Given the description of an element on the screen output the (x, y) to click on. 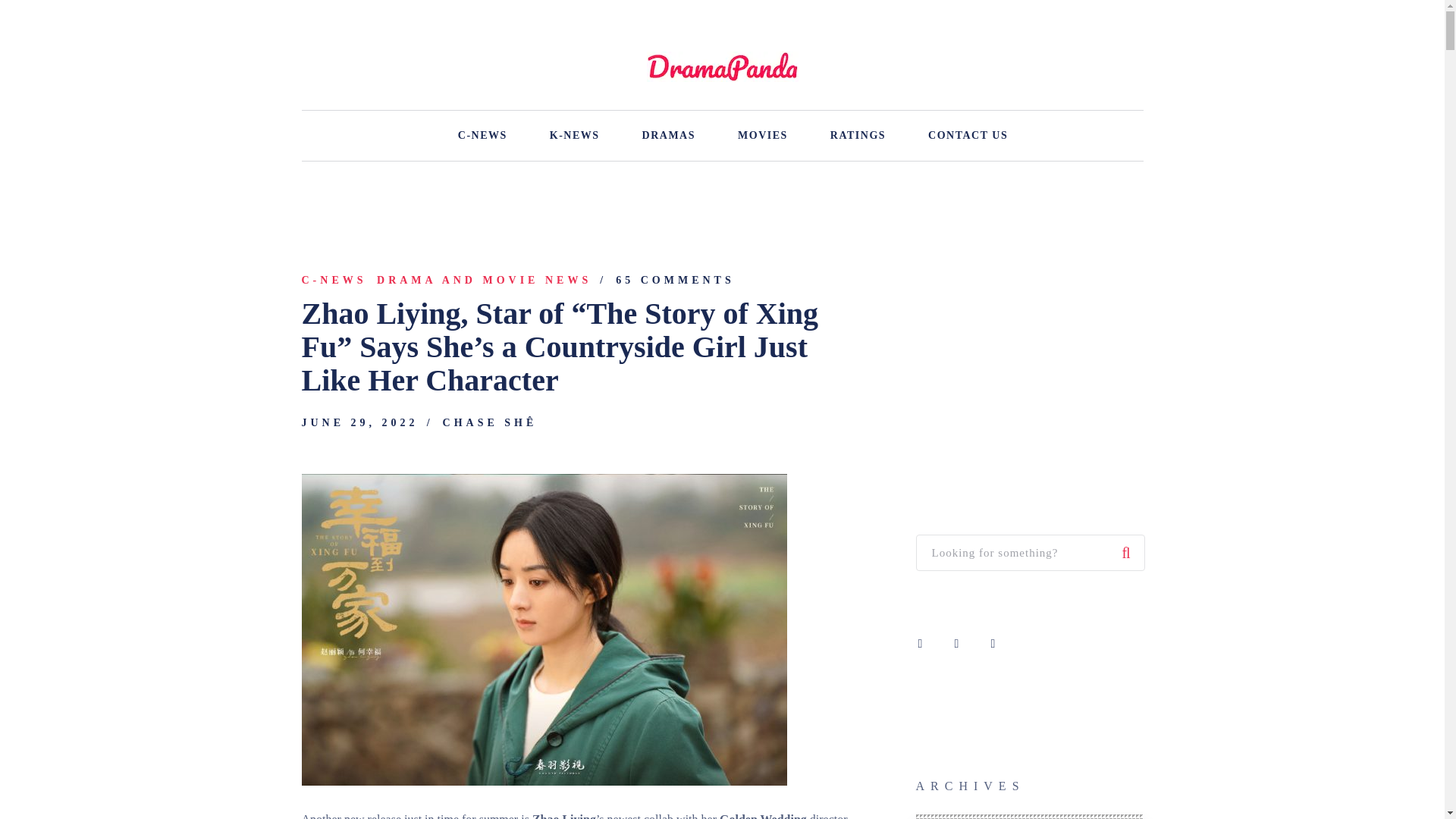
DRAMA AND MOVIE NEWS (484, 280)
Instagram (956, 643)
View all posts in Drama and Movie News (484, 280)
View all posts in C-News (333, 280)
DRAMAS (668, 135)
C-NEWS (482, 135)
MOVIES (762, 135)
K-NEWS (574, 135)
Facebook (920, 643)
CONTACT US (967, 135)
RATINGS (857, 135)
C-NEWS (333, 280)
Twitter (993, 643)
